Given the description of an element on the screen output the (x, y) to click on. 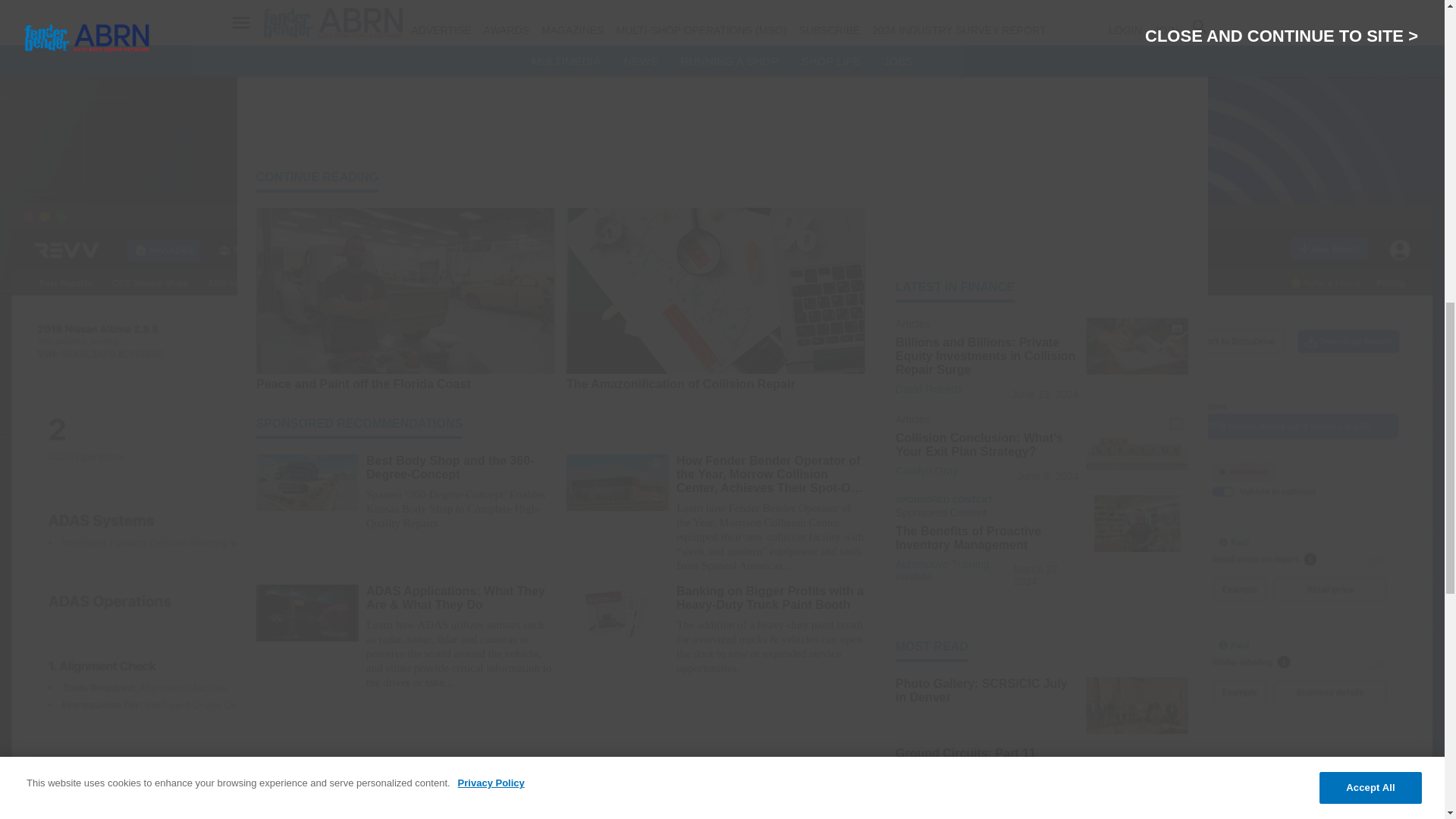
3rd party ad content (1042, 127)
